Given the description of an element on the screen output the (x, y) to click on. 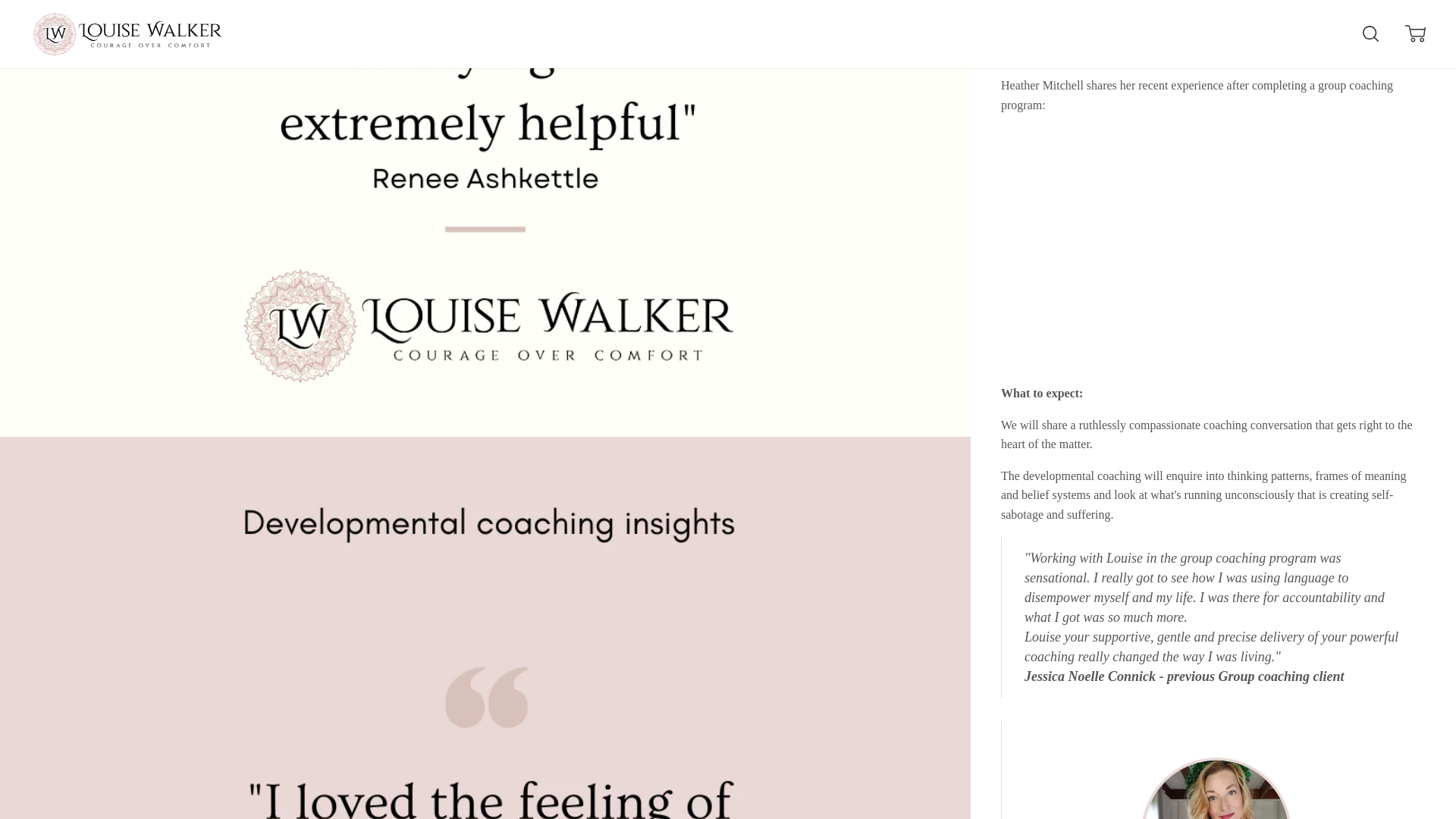
YouTube video player (1213, 245)
